Given the description of an element on the screen output the (x, y) to click on. 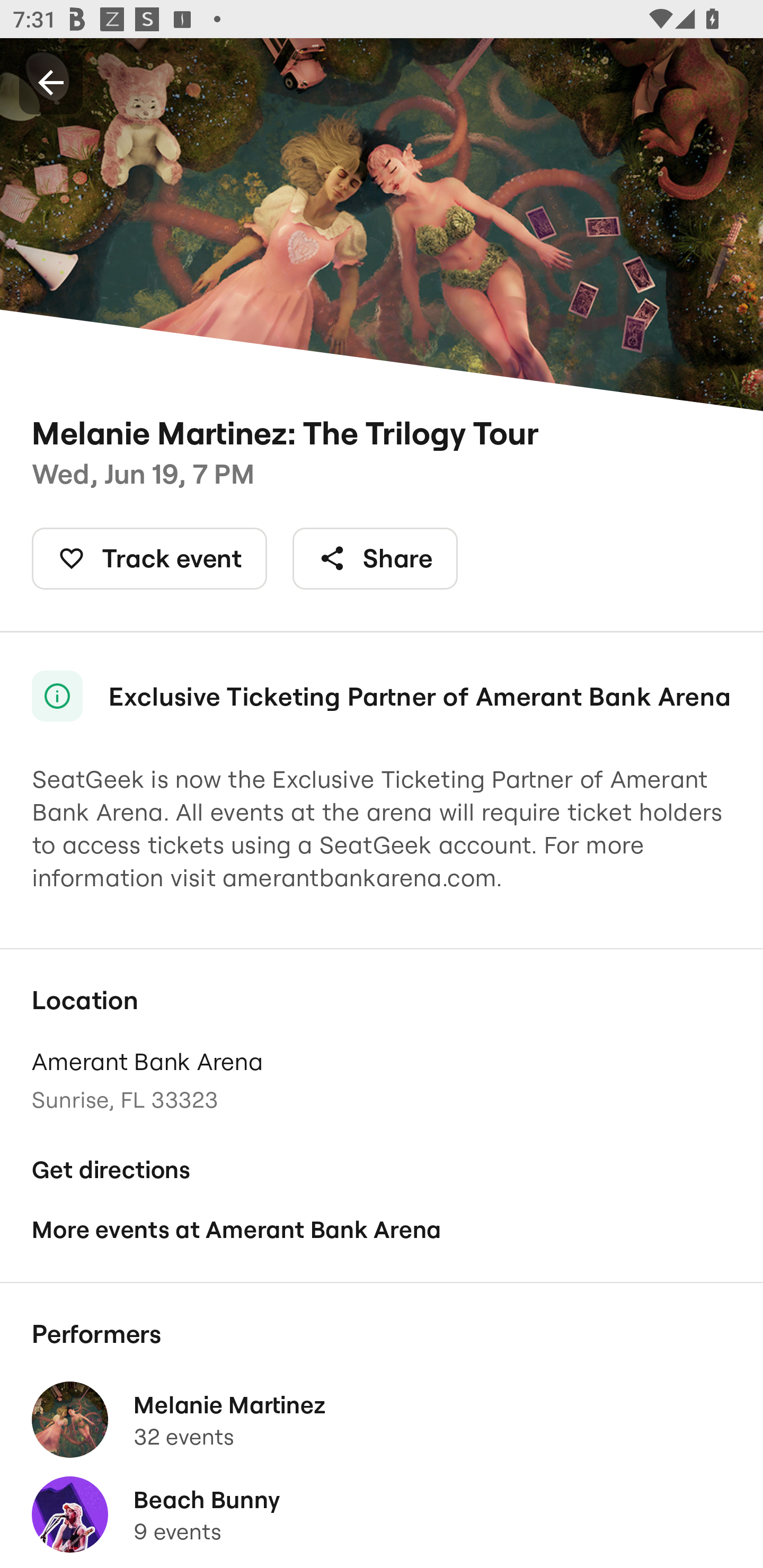
Back (50, 81)
Track event (149, 557)
Share (374, 557)
Get directions (381, 1169)
More events at Amerant Bank Arena (381, 1229)
Melanie Martinez 32 events (381, 1419)
Beach Bunny 9 events (381, 1514)
